Given the description of an element on the screen output the (x, y) to click on. 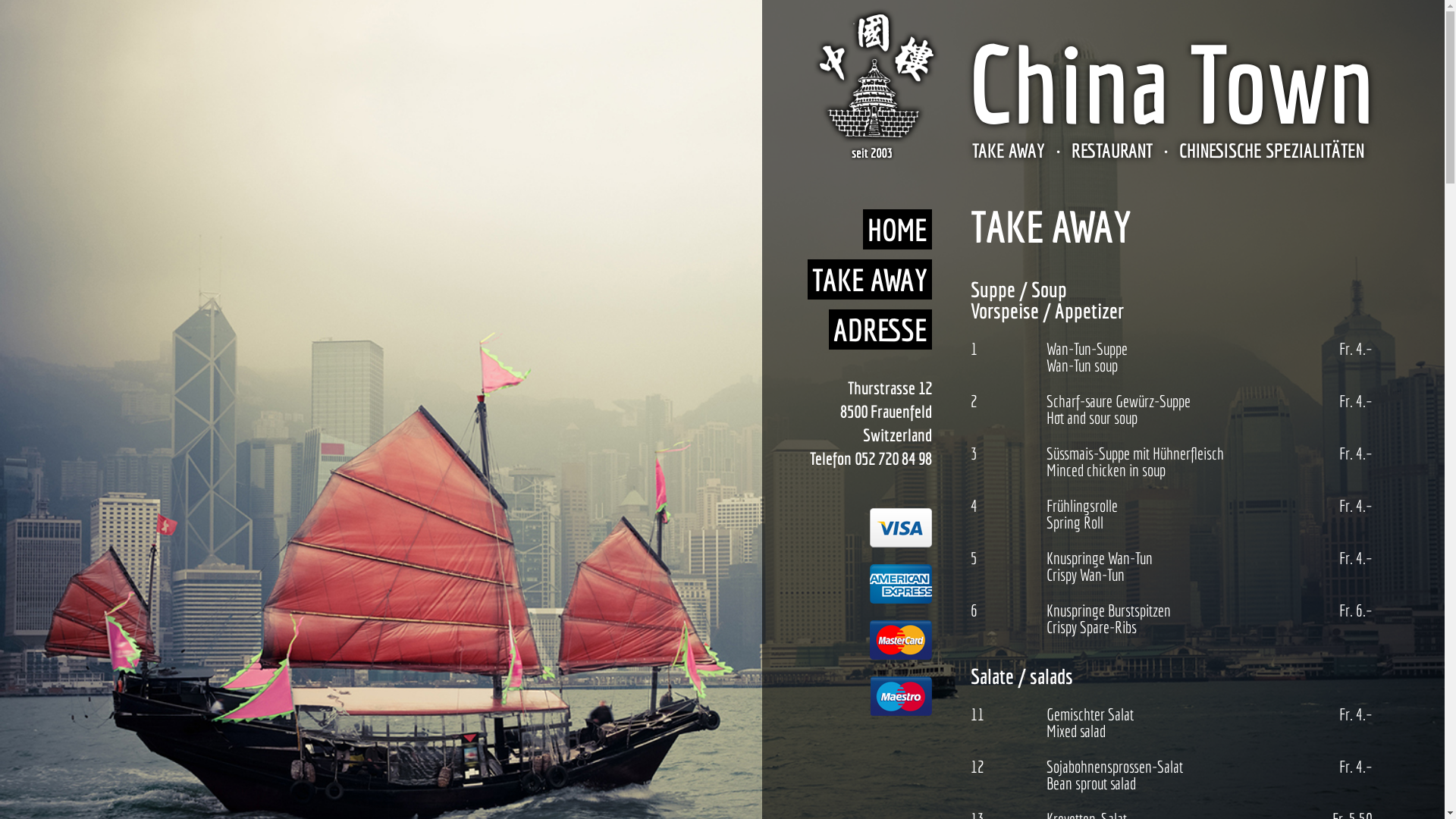
HOME Element type: text (896, 229)
TAKE AWAY Element type: text (869, 279)
ADRESSE Element type: text (879, 329)
